Given the description of an element on the screen output the (x, y) to click on. 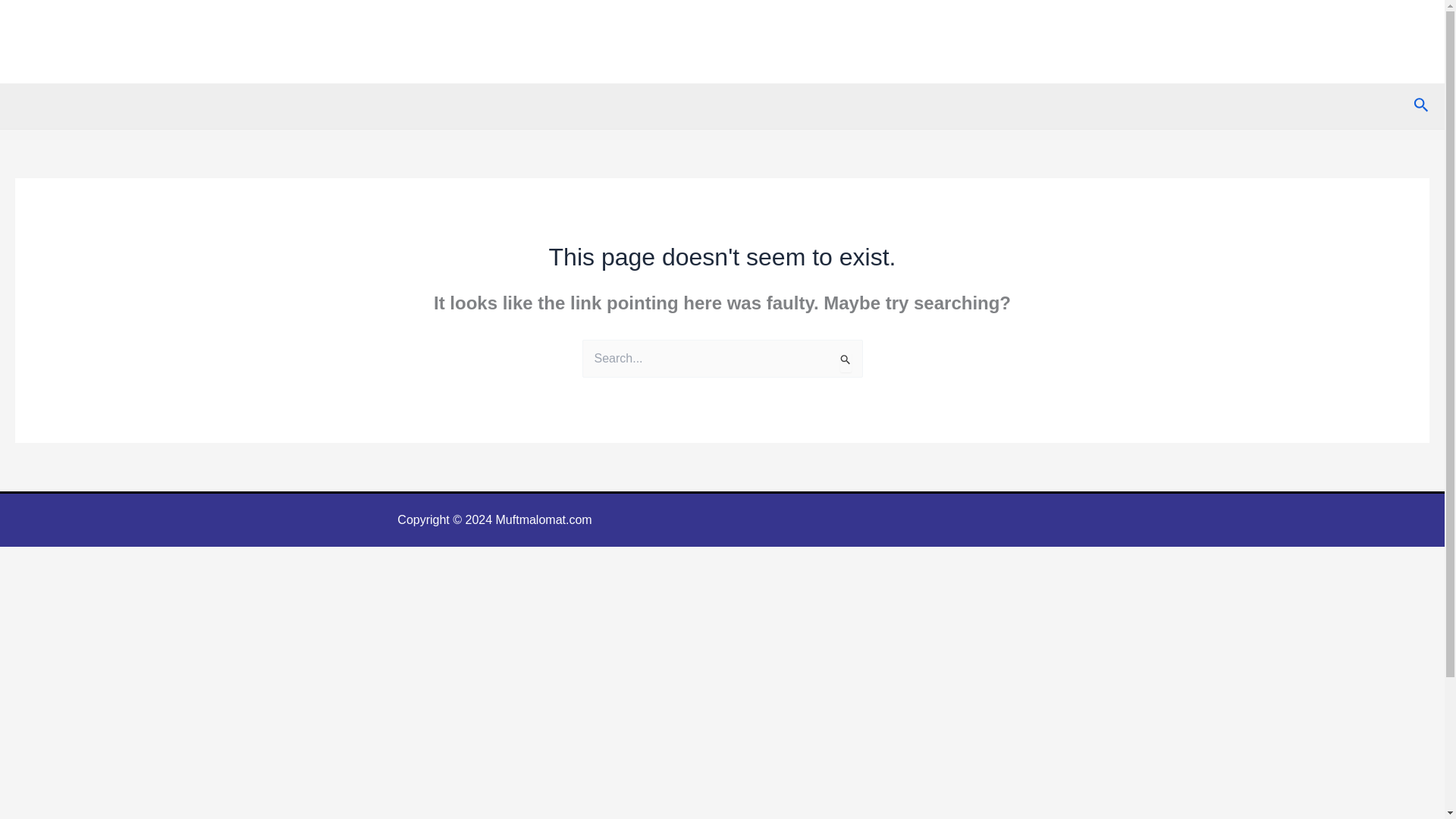
News (1035, 41)
Contact Us (1387, 41)
Muft Malomat (90, 33)
Home (980, 41)
Useful Info (1103, 41)
Privacy Policy (1294, 41)
Entertainment (1195, 41)
